Given the description of an element on the screen output the (x, y) to click on. 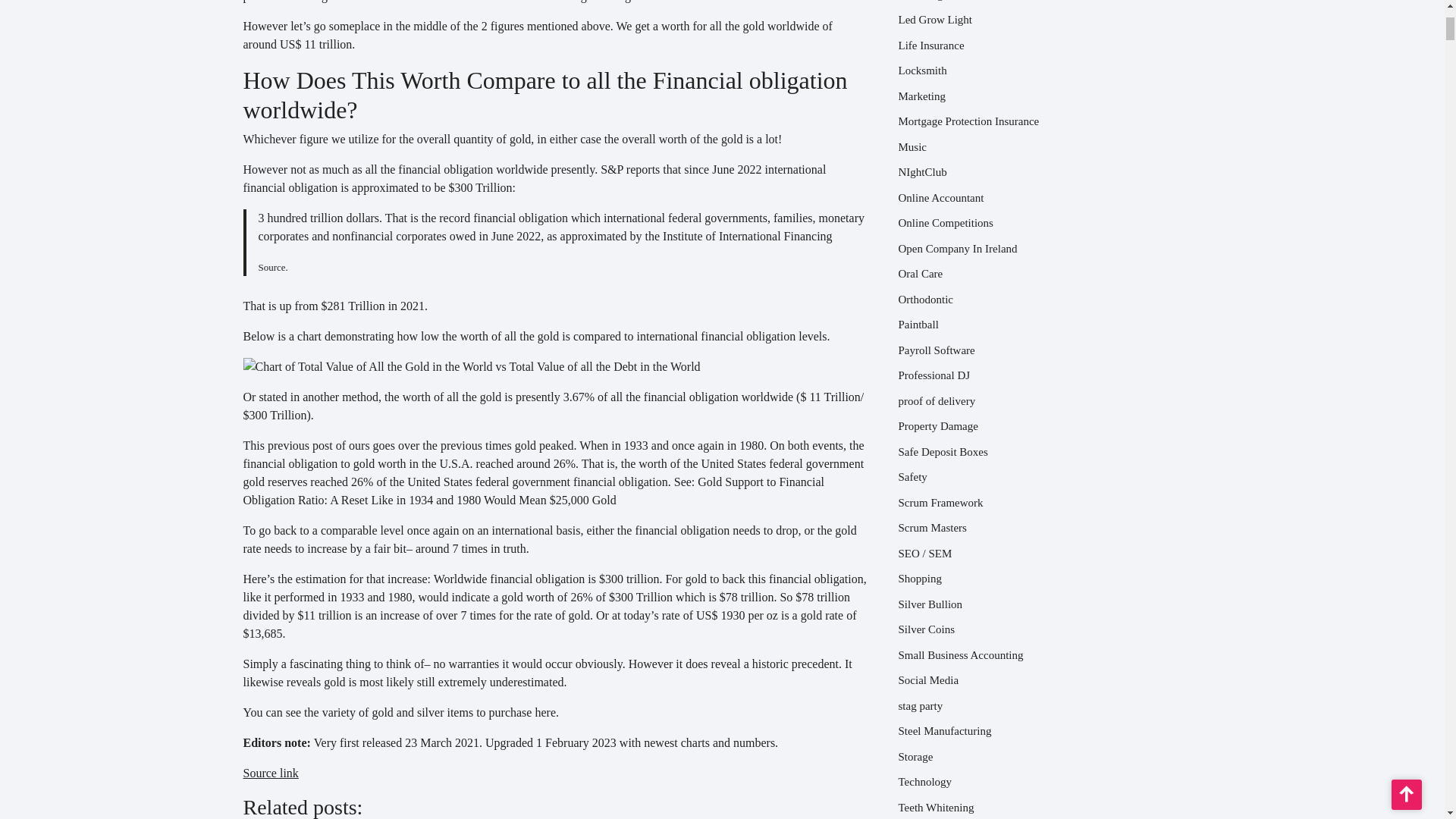
Source link (270, 772)
